Given the description of an element on the screen output the (x, y) to click on. 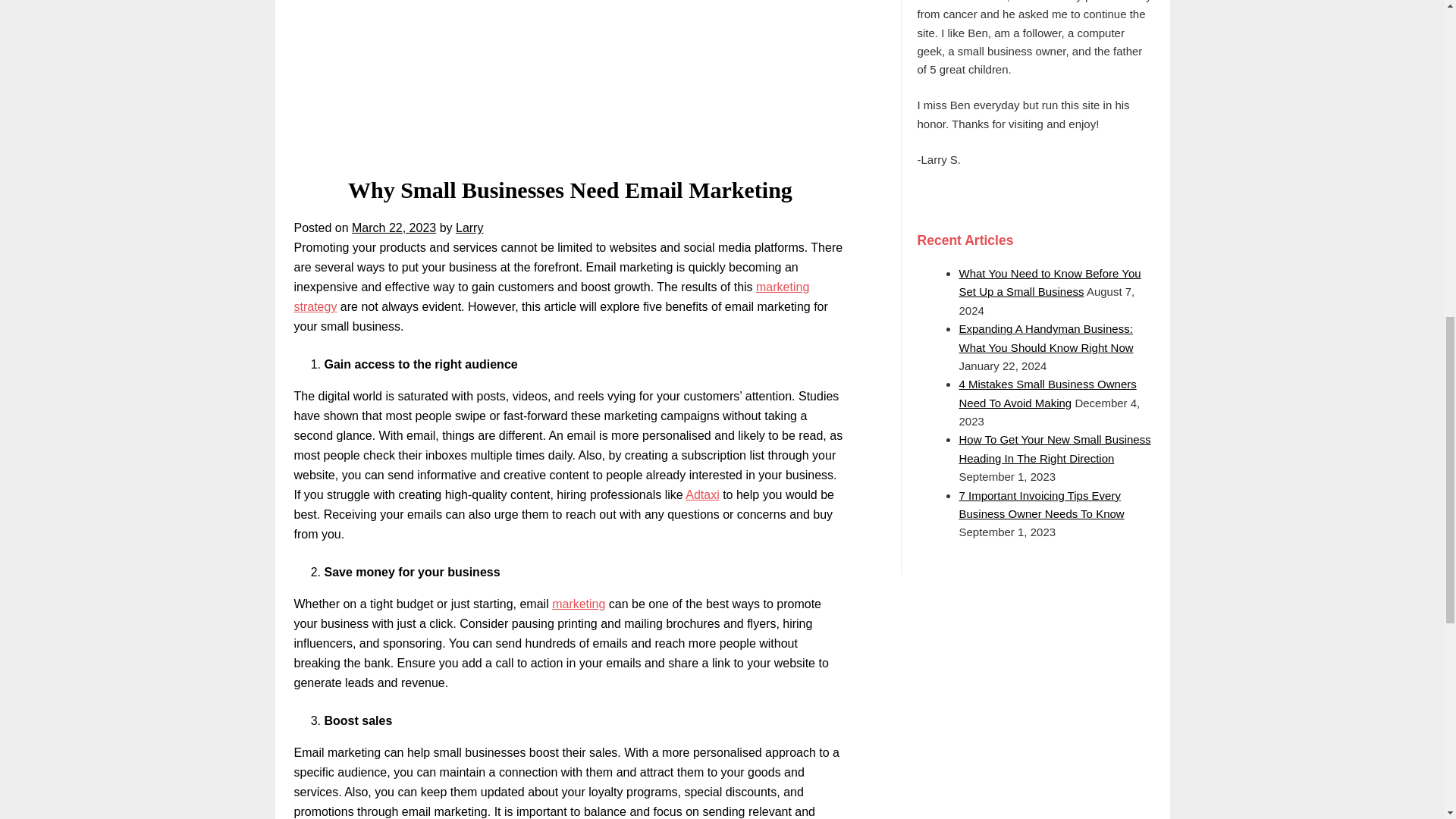
Larry (469, 227)
What You Need to Know Before You Set Up a Small Business (1049, 282)
March 22, 2023 (393, 227)
marketing (578, 603)
marketing strategy (551, 296)
Adtaxi (702, 494)
4 Mistakes Small Business Owners Need To Avoid Making (1046, 392)
